Given the description of an element on the screen output the (x, y) to click on. 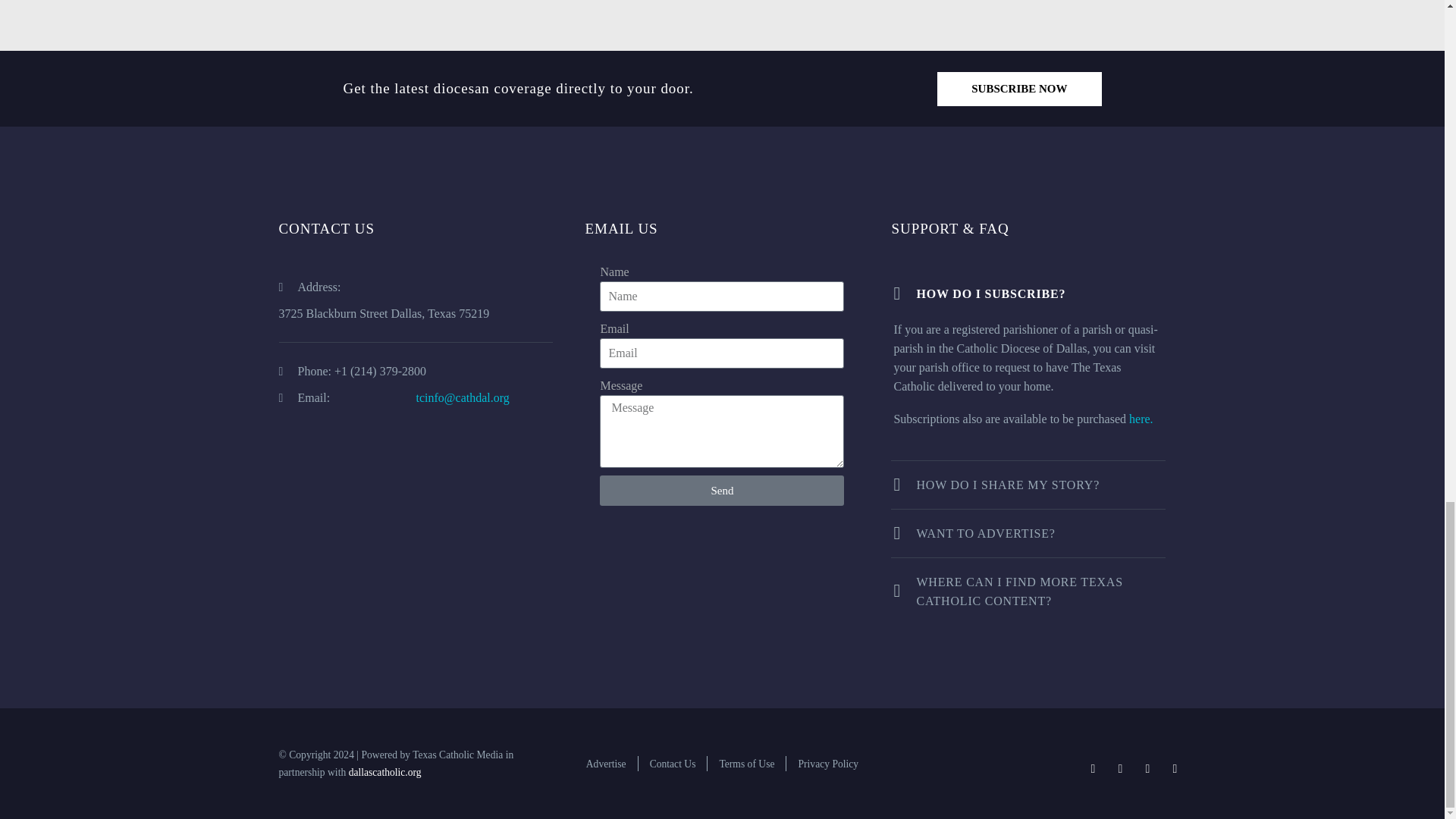
SUBSCRIBE NOW (1018, 89)
Send (721, 490)
HOW DO I SUBSCRIBE? (1028, 293)
HOW DO I SHARE MY STORY? (1028, 484)
here. (1141, 418)
Email: (347, 397)
